Given the description of an element on the screen output the (x, y) to click on. 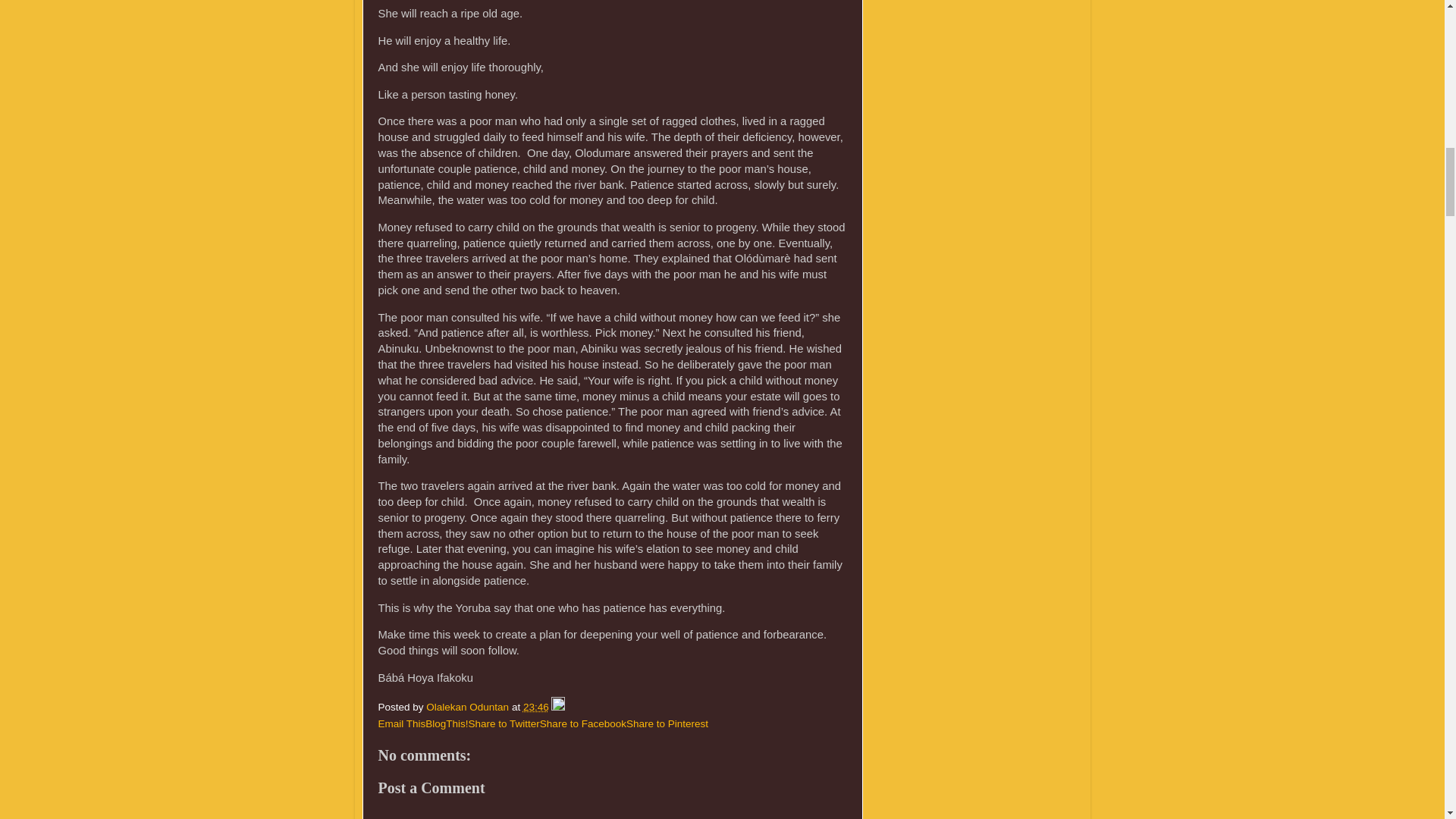
Share to Facebook (583, 723)
Share to Facebook (583, 723)
Share to Twitter (504, 723)
permanent link (535, 706)
Share to Pinterest (666, 723)
Share to Pinterest (666, 723)
23:46 (535, 706)
Email This (401, 723)
BlogThis! (446, 723)
Olalekan Oduntan (469, 706)
Email This (401, 723)
author profile (469, 706)
BlogThis! (446, 723)
Share to Twitter (504, 723)
Edit Post (557, 706)
